Given the description of an element on the screen output the (x, y) to click on. 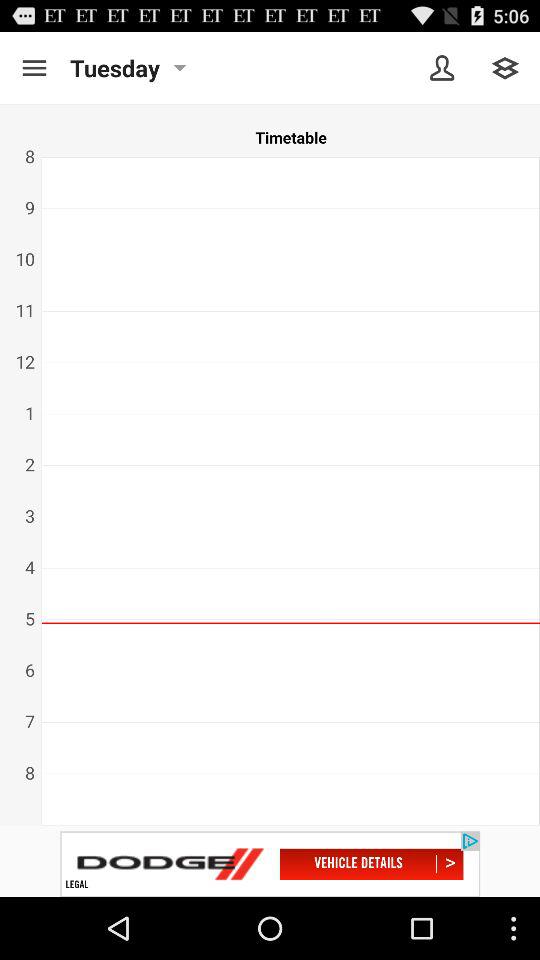
menu pega (505, 68)
